Given the description of an element on the screen output the (x, y) to click on. 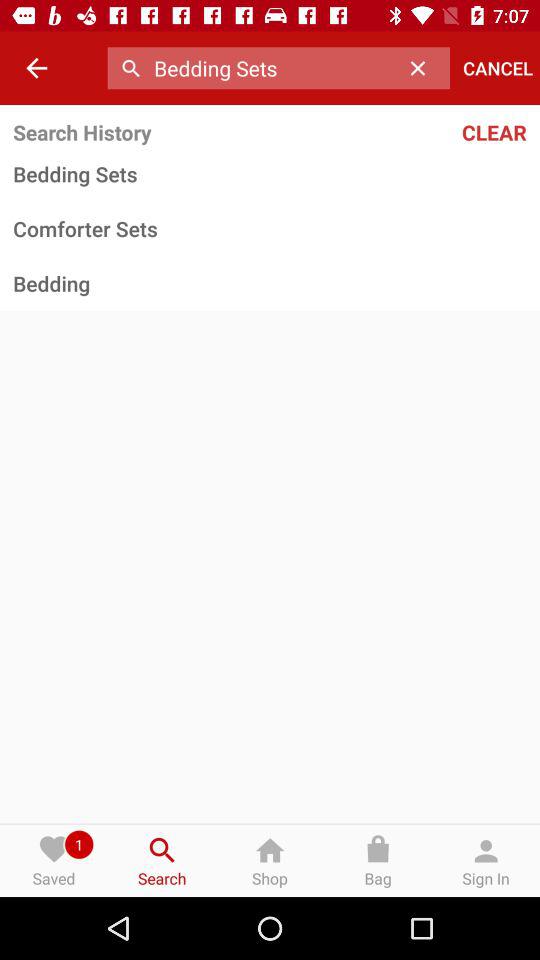
click item below the bedding sets icon (270, 228)
